Given the description of an element on the screen output the (x, y) to click on. 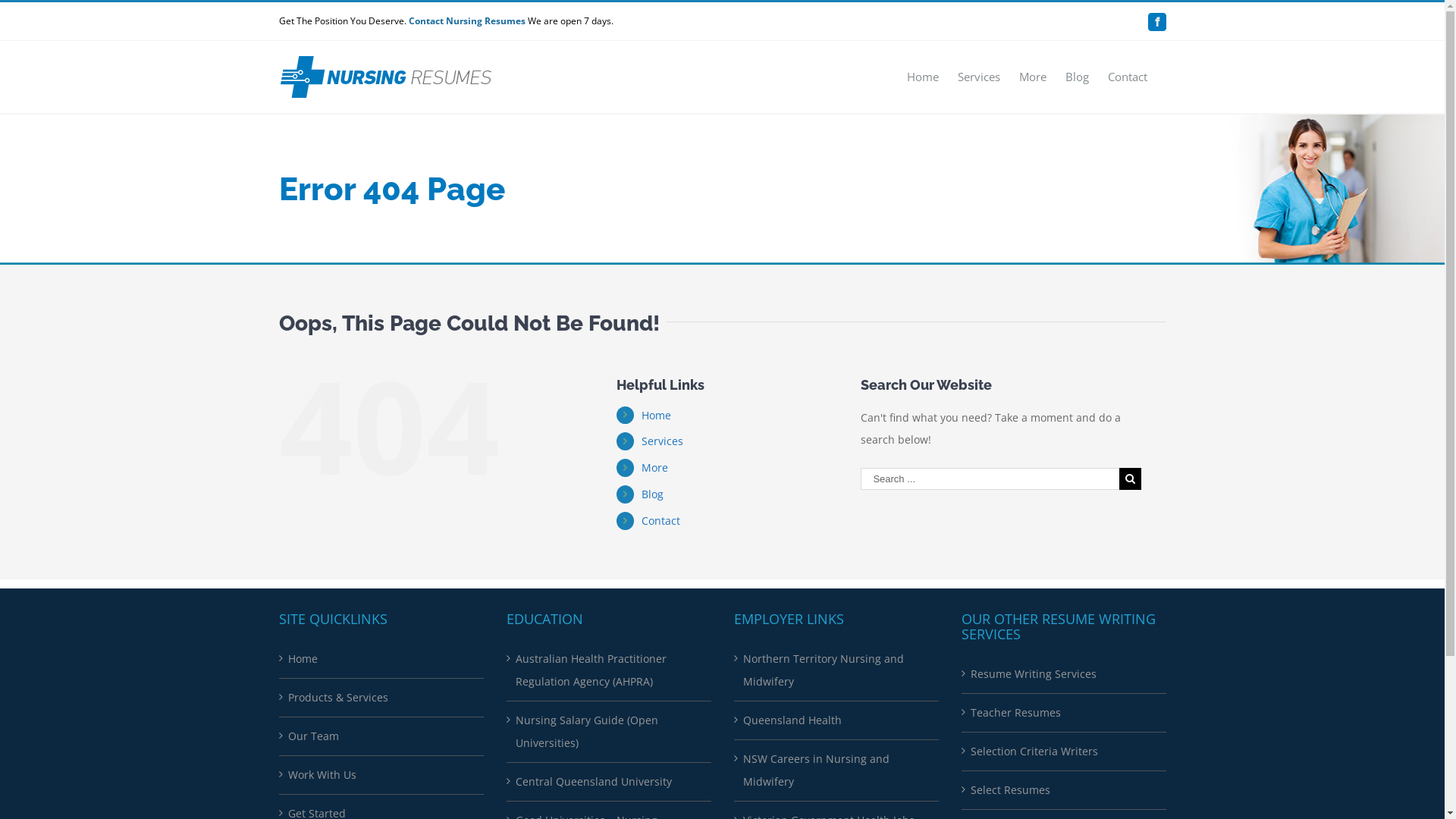
Services Element type: text (662, 440)
Queensland Health Element type: text (837, 720)
Blog Element type: text (652, 493)
Teacher Resumes Element type: text (1064, 712)
Selection Criteria Writers Element type: text (1064, 751)
Products & Services Element type: text (382, 697)
More Element type: text (1032, 75)
Australian Health Practitioner Regulation Agency (AHPRA) Element type: text (609, 670)
NSW Careers in Nursing and Midwifery Element type: text (837, 770)
Central Queensland University Element type: text (609, 781)
Contact Nursing Resumes Element type: text (465, 20)
Home Element type: text (382, 658)
Our Team Element type: text (382, 735)
Resume Writing Services Element type: text (1064, 673)
Select Resumes Element type: text (1064, 789)
Facebook Element type: text (1157, 21)
Home Element type: text (922, 75)
Nursing Salary Guide (Open Universities) Element type: text (609, 731)
Services Element type: text (978, 75)
Contact Element type: text (1126, 75)
Blog Element type: text (1076, 75)
Work With Us Element type: text (382, 774)
Northern Territory Nursing and Midwifery Element type: text (837, 670)
Home Element type: text (656, 414)
More Element type: text (654, 467)
Contact Element type: text (660, 520)
